Given the description of an element on the screen output the (x, y) to click on. 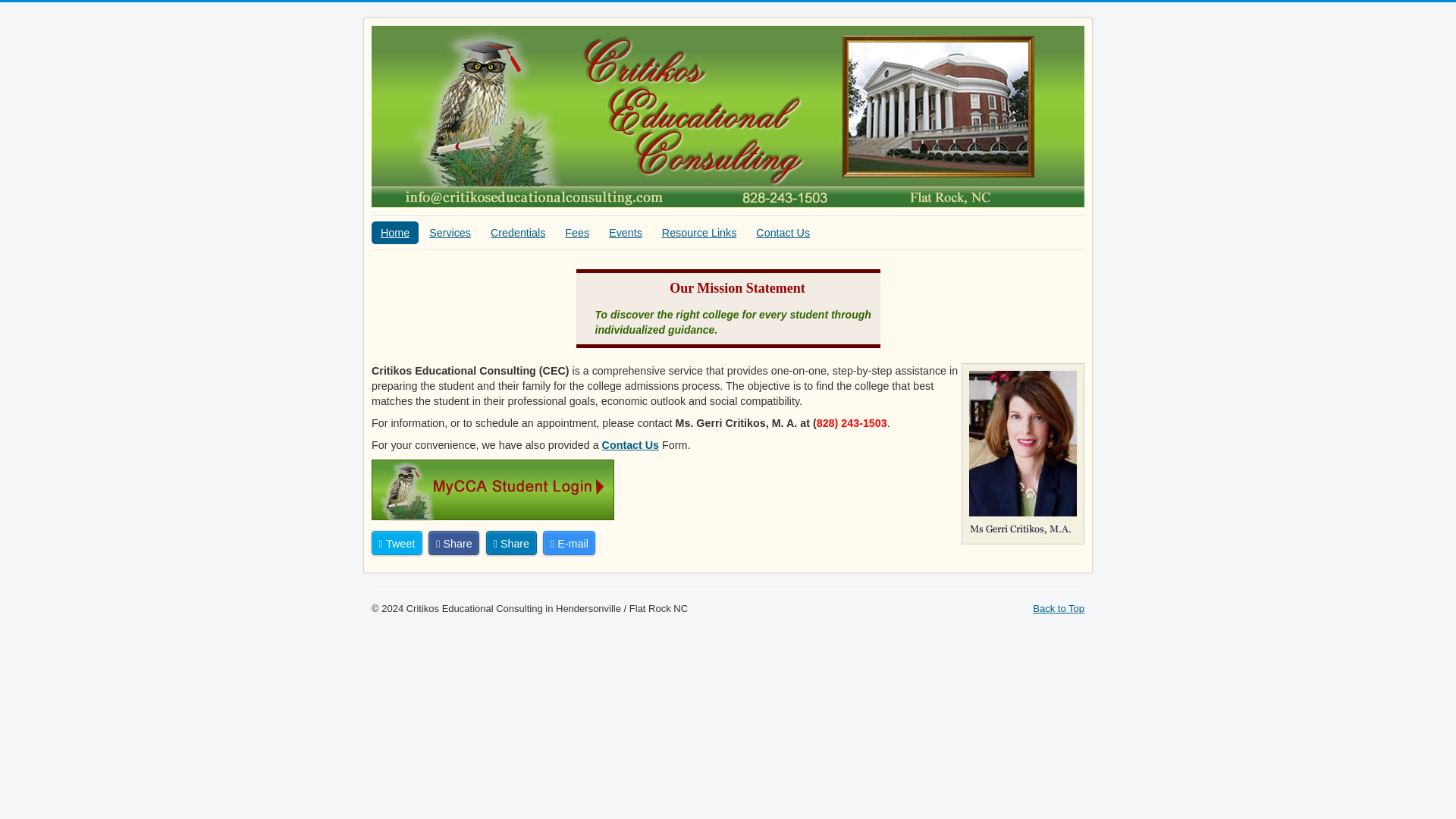
Home (395, 232)
Services (450, 232)
Fees (577, 232)
Tweet (396, 542)
Credentials (517, 232)
Contact Us (630, 444)
Resource Links (698, 232)
Events (624, 232)
Share (453, 542)
Share (511, 542)
